Given the description of an element on the screen output the (x, y) to click on. 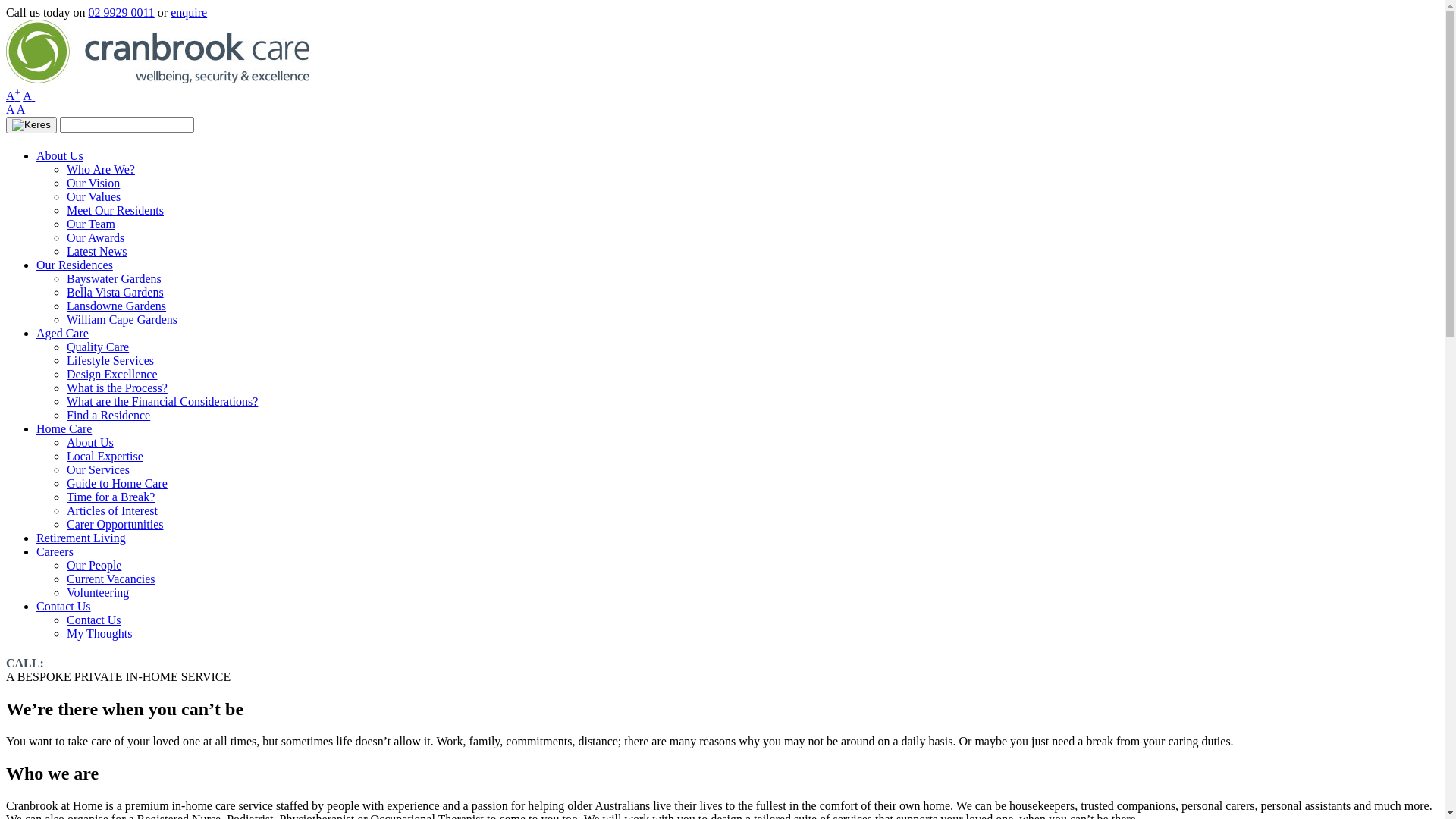
Retirement Living Element type: text (80, 537)
Our Residences Element type: text (74, 264)
A- Element type: text (28, 95)
About Us Element type: text (89, 442)
enquire Element type: text (188, 12)
Carer Opportunities Element type: text (114, 523)
Bella Vista Gardens Element type: text (114, 291)
Bayswater Gardens Element type: text (113, 278)
Our Values Element type: text (93, 196)
Find a Residence Element type: text (108, 414)
Meet Our Residents Element type: text (114, 209)
Current Vacancies Element type: text (110, 578)
Our Awards Element type: text (95, 237)
My Thoughts Element type: text (98, 633)
Time for a Break? Element type: text (110, 496)
Who Are We? Element type: text (100, 169)
What is the Process? Element type: text (116, 387)
Articles of Interest Element type: text (111, 510)
02 9929 0011 Element type: text (120, 12)
About Us Element type: text (59, 155)
A Element type: text (20, 109)
Latest News Element type: text (96, 250)
Lansdowne Gardens Element type: text (116, 305)
Careers Element type: text (54, 551)
William Cape Gardens Element type: text (121, 319)
A Element type: text (10, 109)
Our Services Element type: text (97, 469)
Our People Element type: text (93, 564)
Contact Us Element type: text (93, 619)
Aged Care Element type: text (62, 332)
Contact Us Element type: text (63, 605)
A+ Element type: text (13, 95)
Our Vision Element type: text (92, 182)
Lifestyle Services Element type: text (109, 360)
Quality Care Element type: text (97, 346)
Home Care Element type: text (63, 428)
What are the Financial Considerations? Element type: text (161, 401)
Local Expertise Element type: text (104, 455)
Our Team Element type: text (90, 223)
Volunteering Element type: text (97, 592)
Design Excellence Element type: text (111, 373)
Guide to Home Care Element type: text (116, 482)
